Given the description of an element on the screen output the (x, y) to click on. 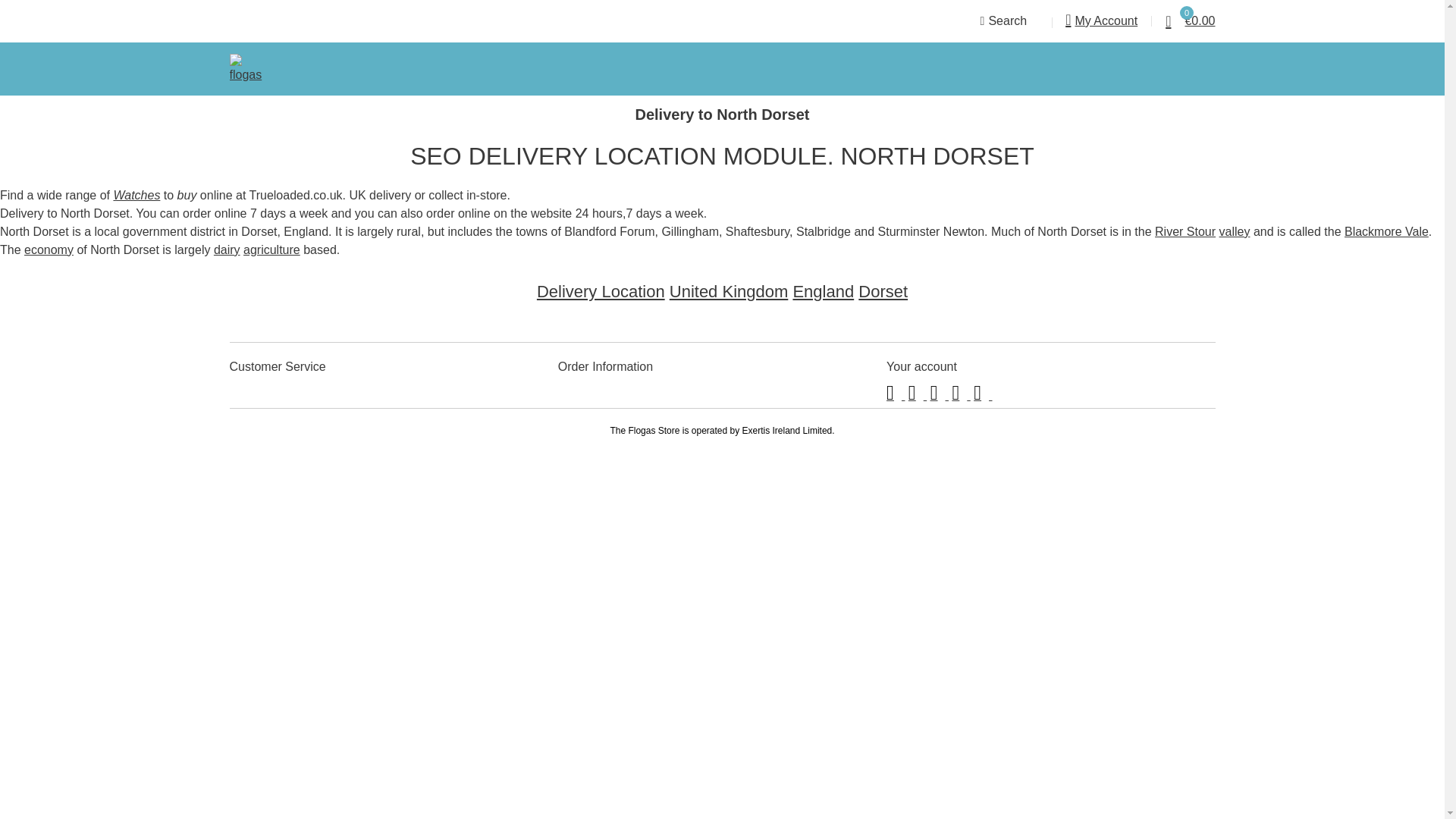
Watches (136, 195)
valley (1235, 231)
River Stour, Dorset (1184, 231)
United Kingdom (729, 291)
Economics (49, 249)
Blackmore Vale (1385, 231)
My Account (1101, 21)
Delivery Location (601, 291)
Blackmore Vale (1385, 231)
